Given the description of an element on the screen output the (x, y) to click on. 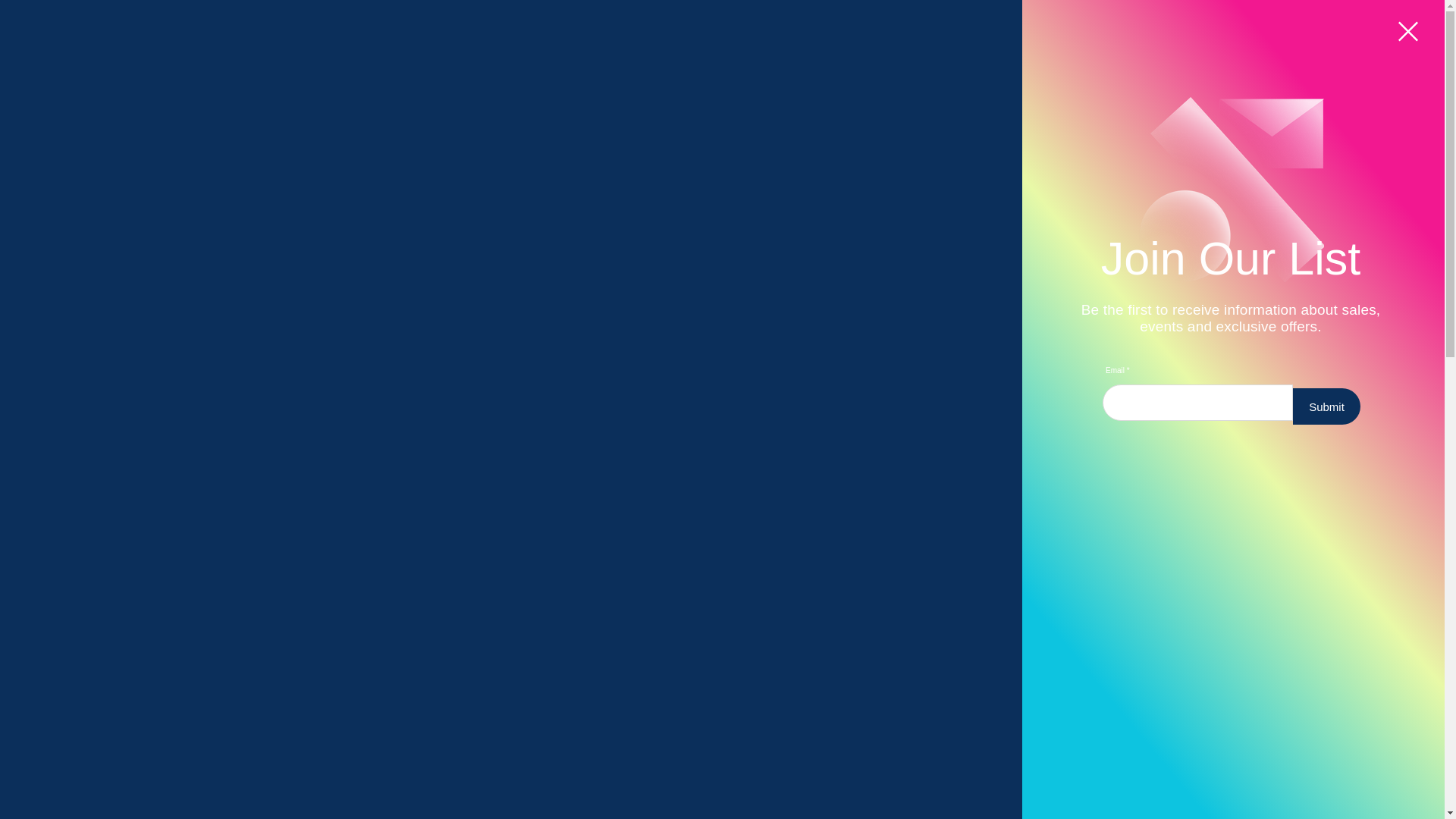
Embedded Content (1230, 139)
Testimonials (933, 182)
Softap PMU (724, 182)
MAW BEST SELLERS (742, 721)
Submit (1325, 406)
Facials (441, 182)
BOOK NOW (722, 95)
Contact (1061, 182)
Home (381, 188)
GIFT CERTIFICATES (724, 132)
Policy (1002, 182)
Male Grooming (626, 182)
About (861, 182)
Skincare (801, 182)
